Given the description of an element on the screen output the (x, y) to click on. 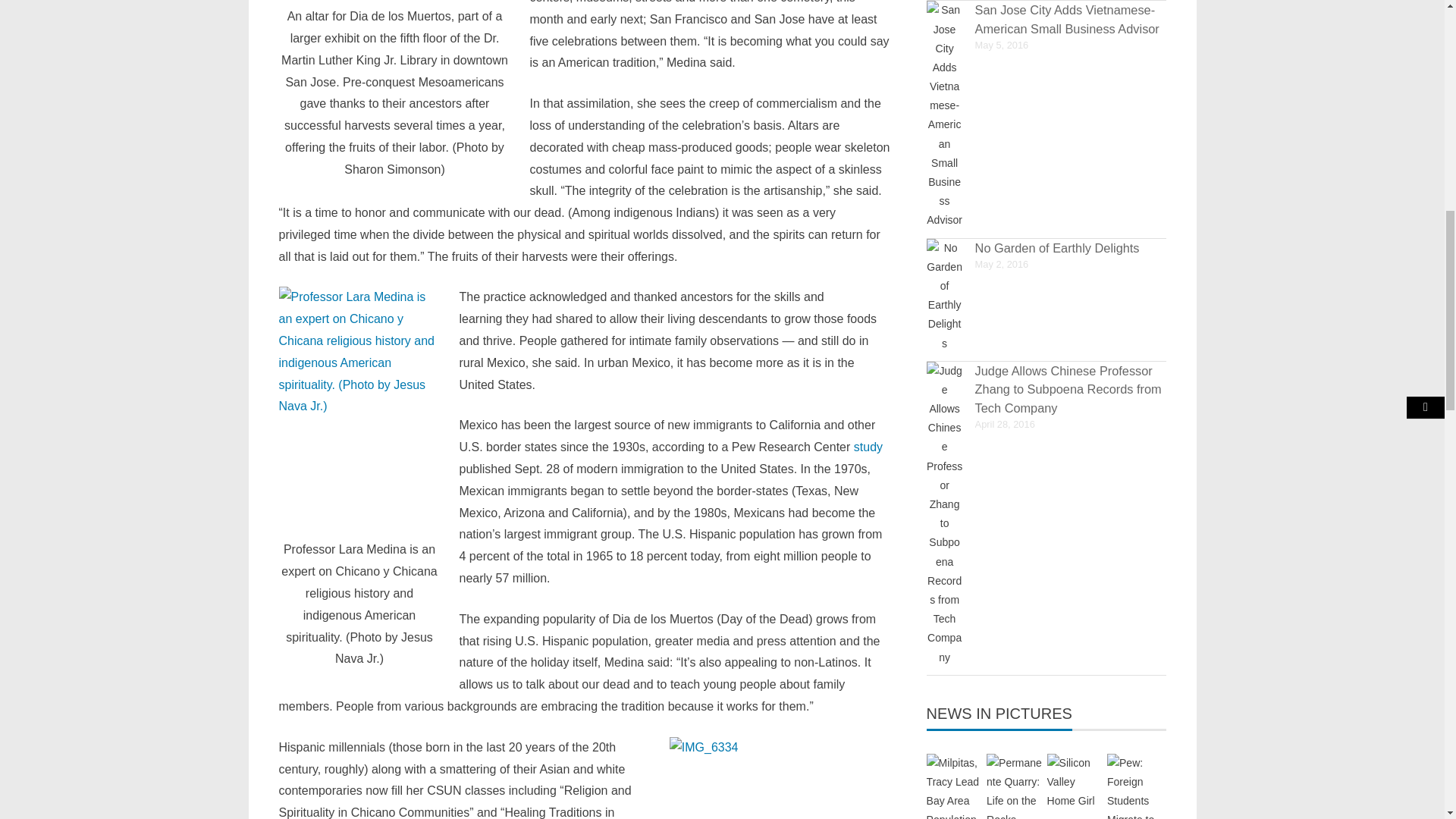
9:08 am (1002, 44)
May 5, 2016 (1002, 44)
study (867, 446)
No Garden of Earthly Delights (1057, 247)
